Given the description of an element on the screen output the (x, y) to click on. 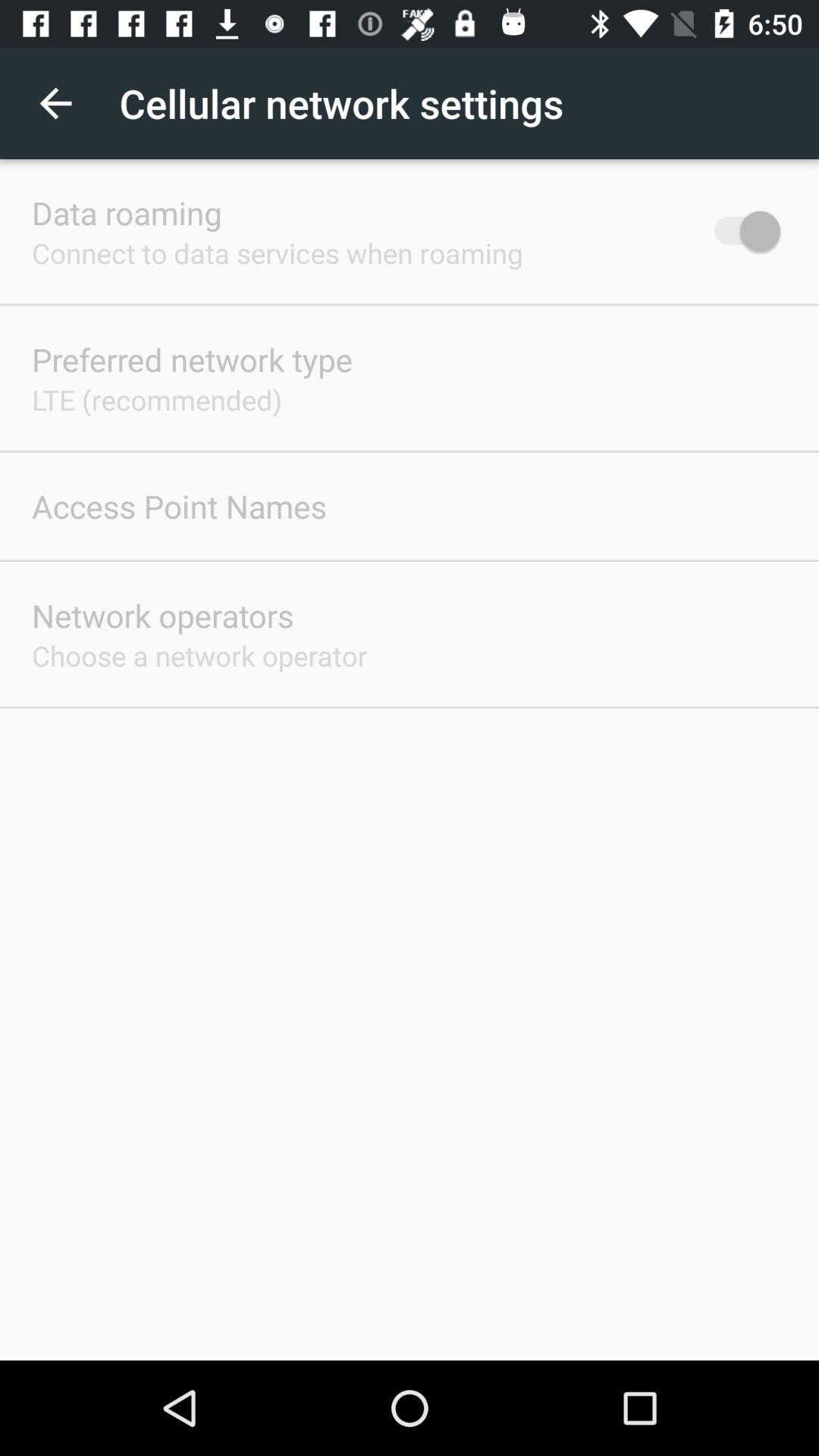
jump until the network operators icon (162, 615)
